Given the description of an element on the screen output the (x, y) to click on. 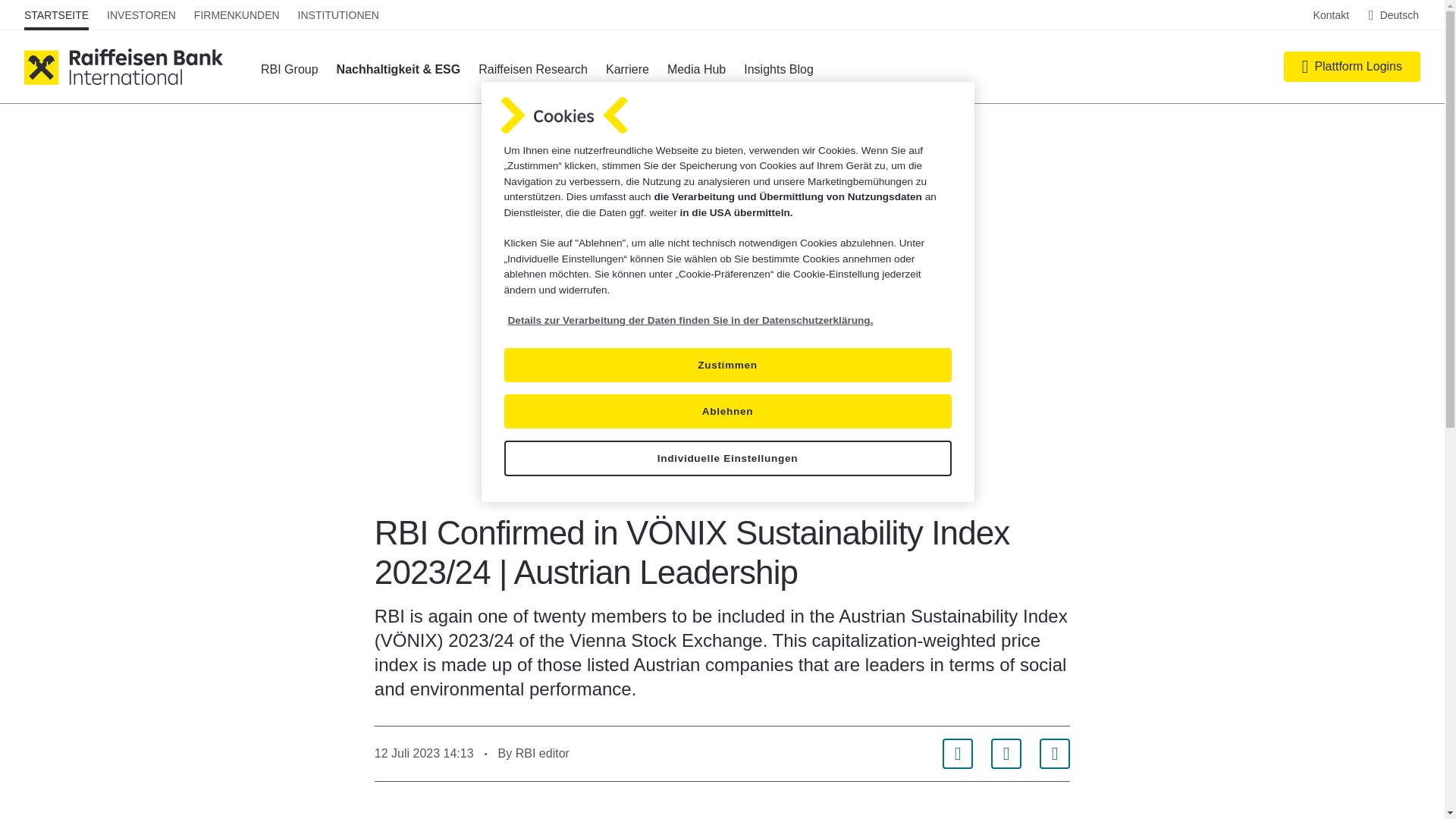
Kontakt (1331, 15)
INSTITUTIONEN (338, 15)
Deutsch (1394, 15)
FIRMENKUNDEN (236, 15)
STARTSEITE (56, 15)
Firmenlogo (563, 115)
INVESTOREN (141, 15)
